Given the description of an element on the screen output the (x, y) to click on. 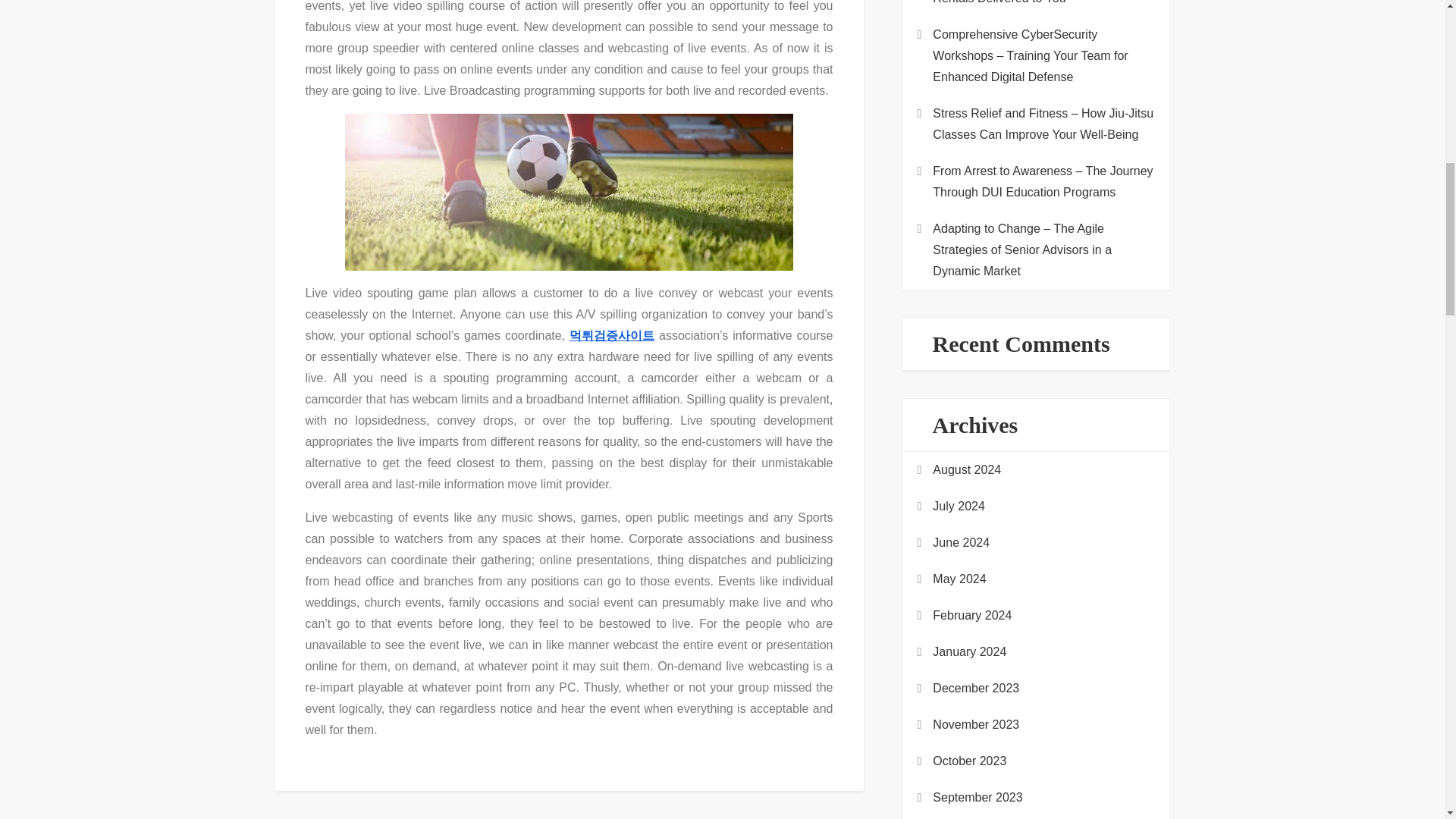
December 2023 (976, 688)
February 2024 (972, 615)
July 2024 (959, 506)
September 2023 (977, 797)
May 2024 (959, 578)
January 2024 (969, 651)
August 2024 (967, 469)
November 2023 (976, 724)
October 2023 (969, 761)
June 2024 (961, 542)
